Given the description of an element on the screen output the (x, y) to click on. 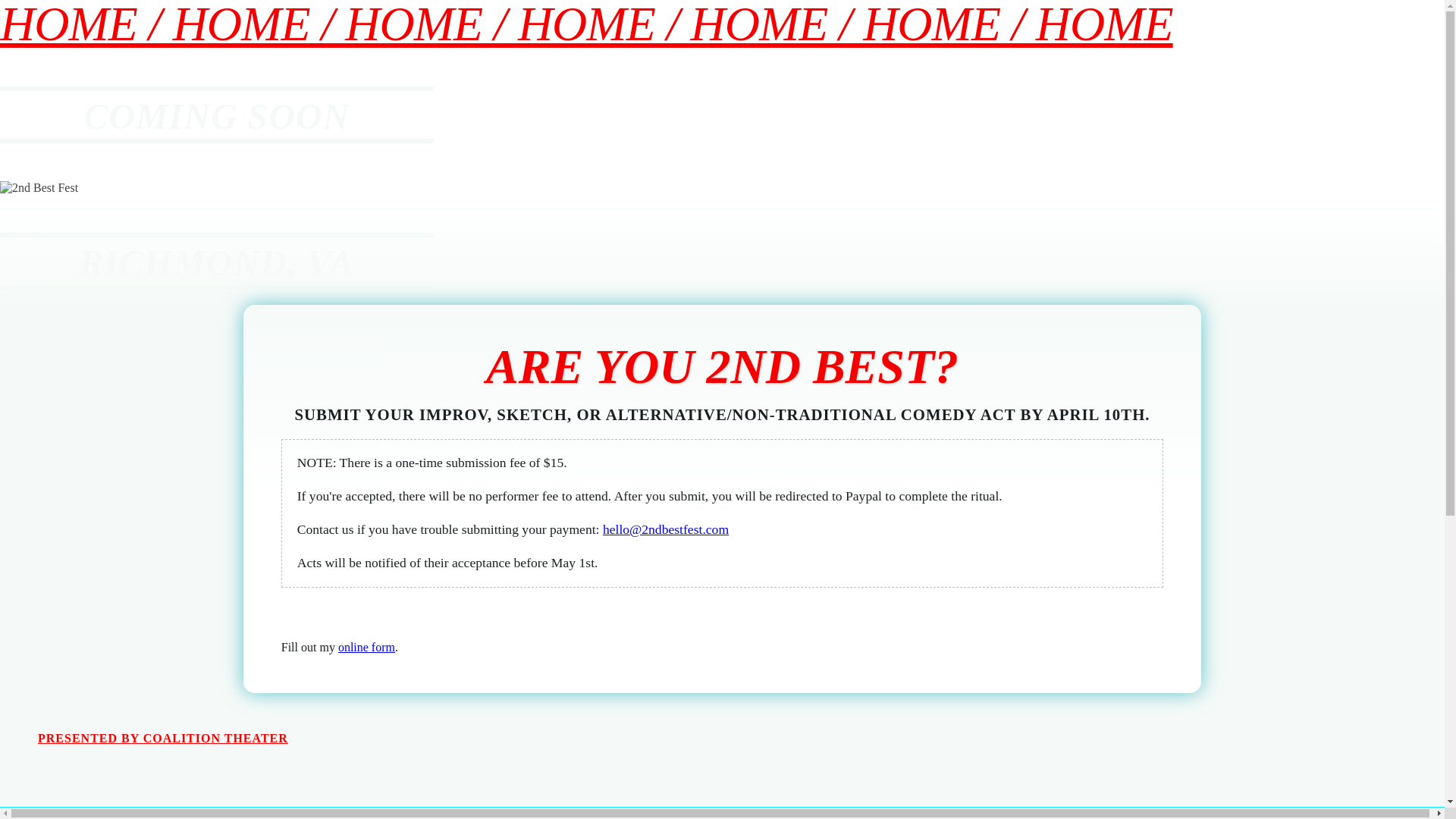
PRESENTED BY COALITION THEATER Element type: text (162, 737)
online form Element type: text (366, 646)
HOME / HOME / HOME / HOME / HOME / HOME / HOME Element type: text (722, 24)
hello@2ndbestfest.com Element type: text (665, 528)
